Given the description of an element on the screen output the (x, y) to click on. 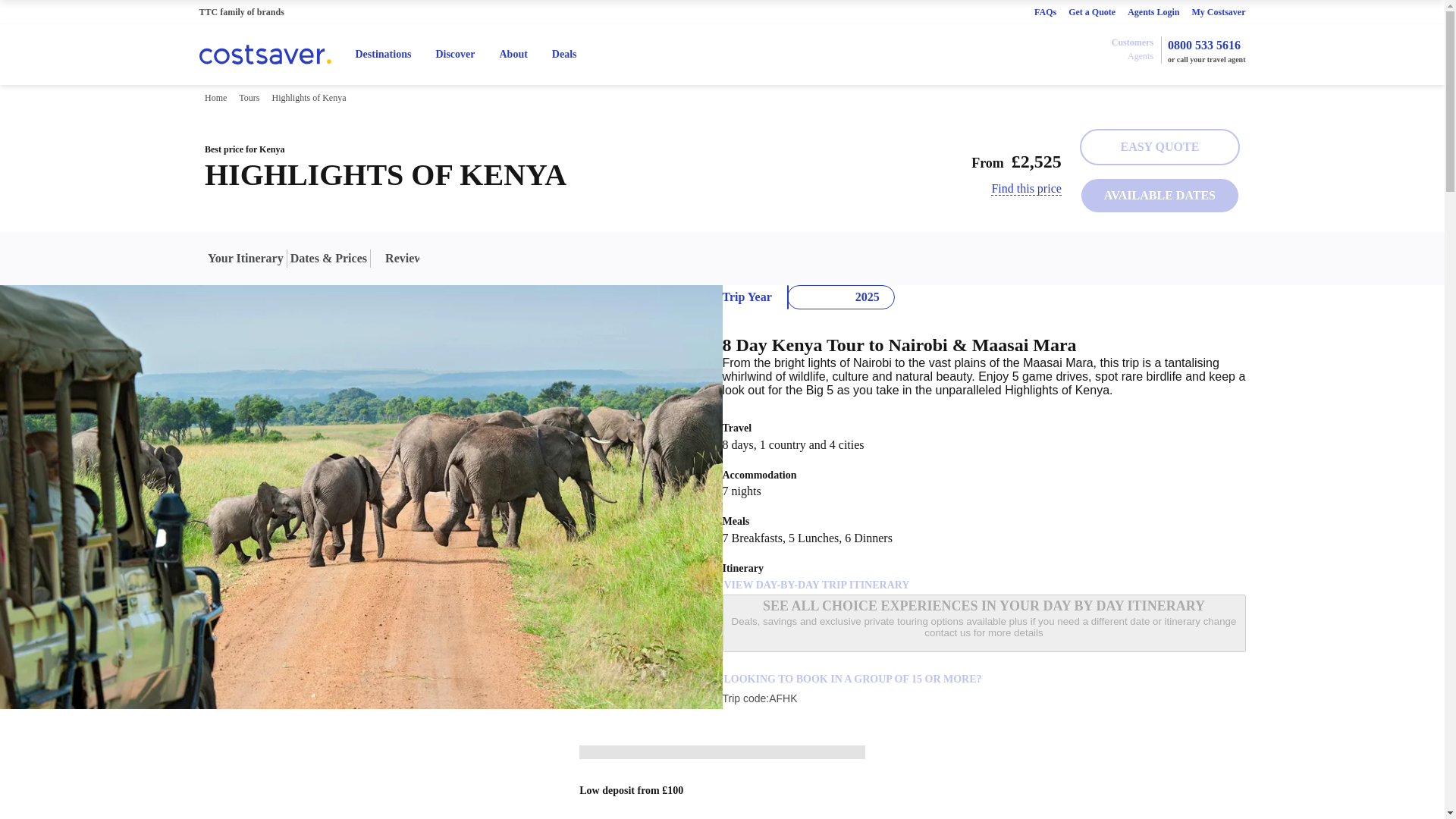
Customers (1131, 42)
LOOKING TO BOOK IN A GROUP OF 15 OR MORE? (852, 679)
FAQs (1045, 11)
Home (216, 97)
FAQs (1045, 11)
Find this price (1026, 188)
Agents Login (1152, 11)
EASY QUOTE (1160, 146)
0800 533 5616 (1203, 45)
Get a Quote (1091, 11)
Agents Login (1152, 11)
VIEW DAY-BY-DAY TRIP ITINERARY (816, 585)
Get a Quote (1091, 11)
Agents (1139, 55)
